Given the description of an element on the screen output the (x, y) to click on. 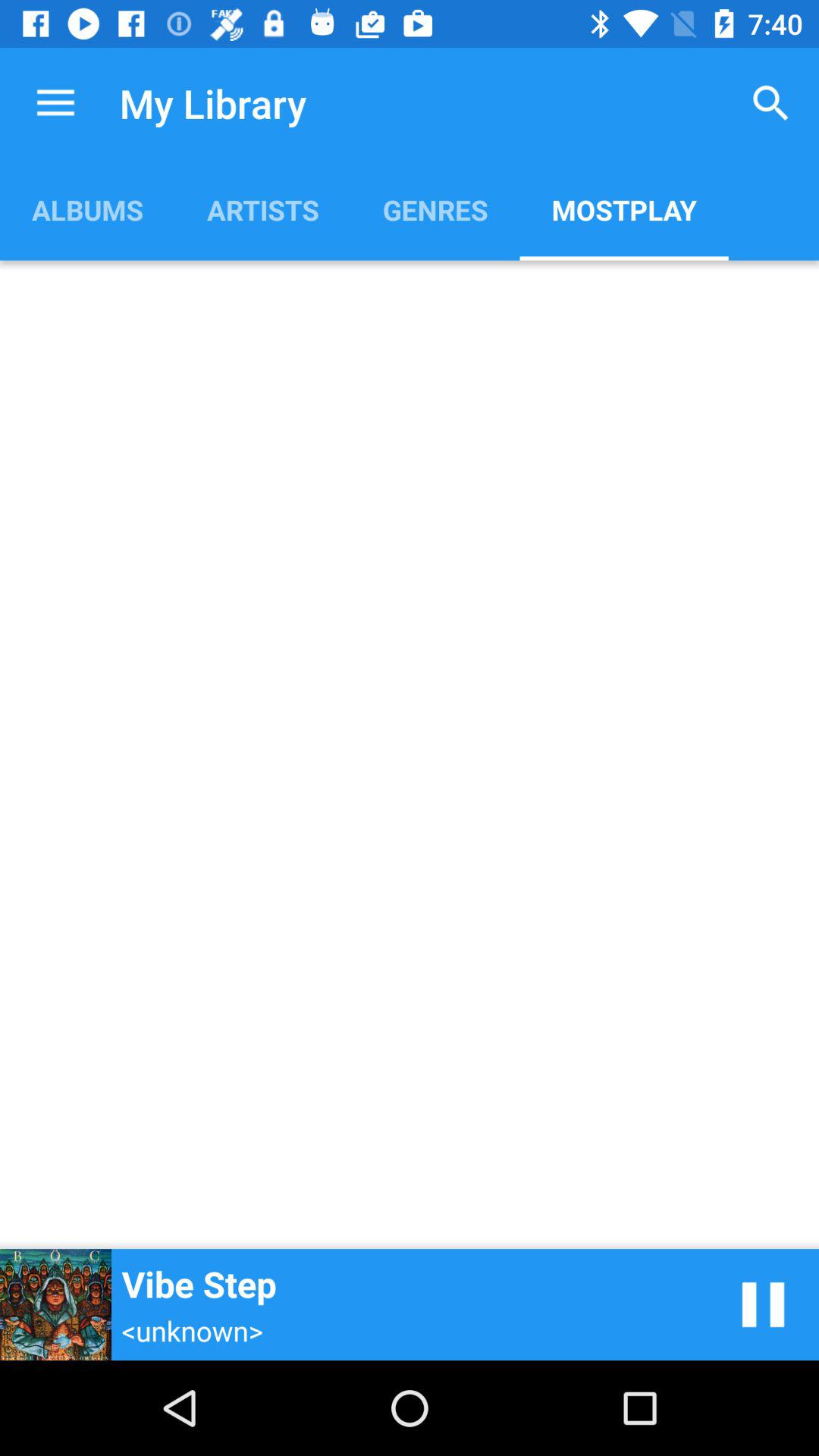
pause music (763, 1304)
